Given the description of an element on the screen output the (x, y) to click on. 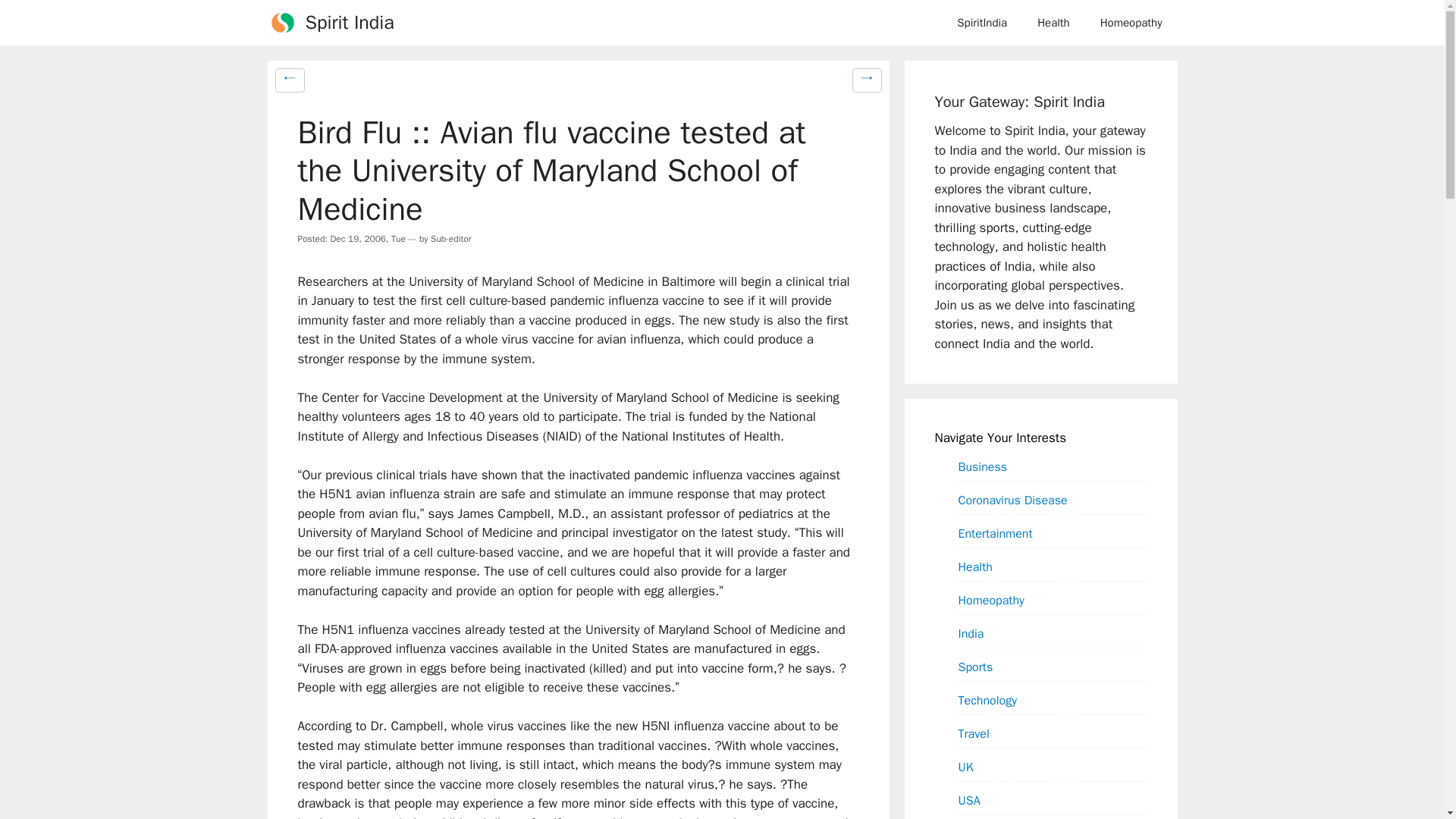
SpiritIndia (982, 22)
Homeopathy (1130, 22)
Health (1053, 22)
Spirit India (348, 22)
